Given the description of an element on the screen output the (x, y) to click on. 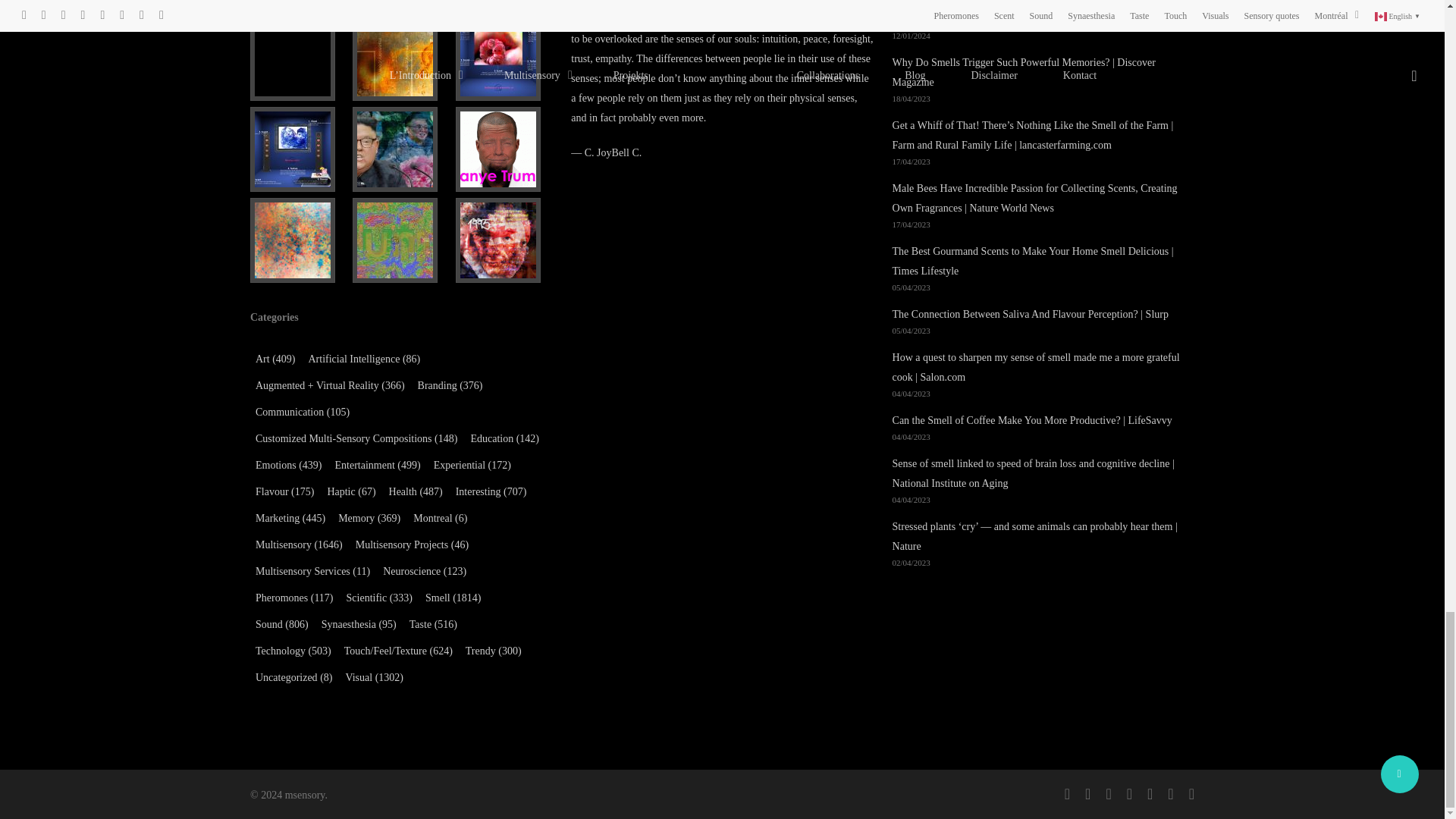
Get vaccinated. Get the Facts! (298, 57)
